Given the description of an element on the screen output the (x, y) to click on. 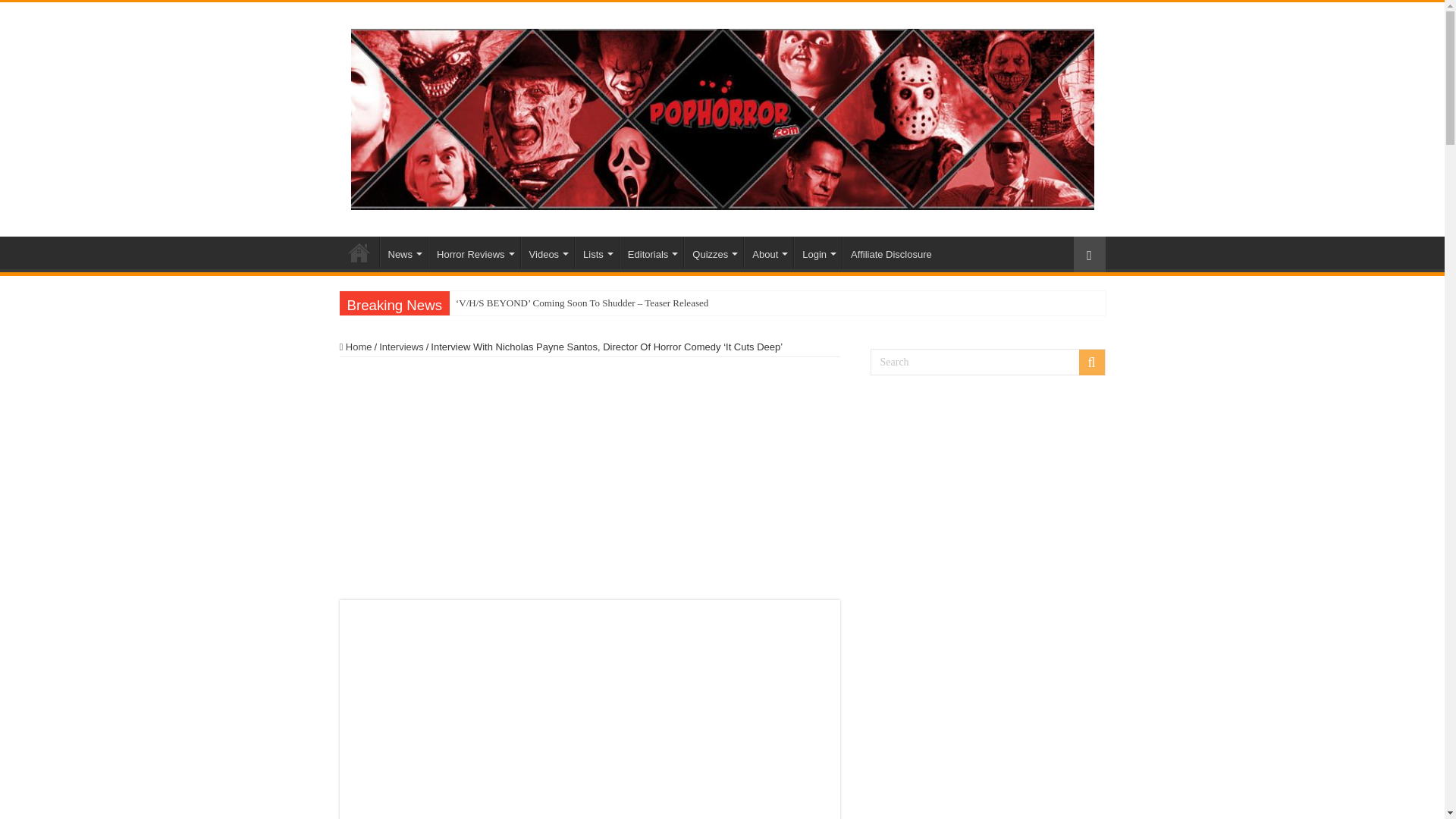
Horror Reviews (473, 252)
Videos (548, 252)
News (403, 252)
Search (987, 361)
PopHorror (721, 116)
PopHorror (358, 252)
